Given the description of an element on the screen output the (x, y) to click on. 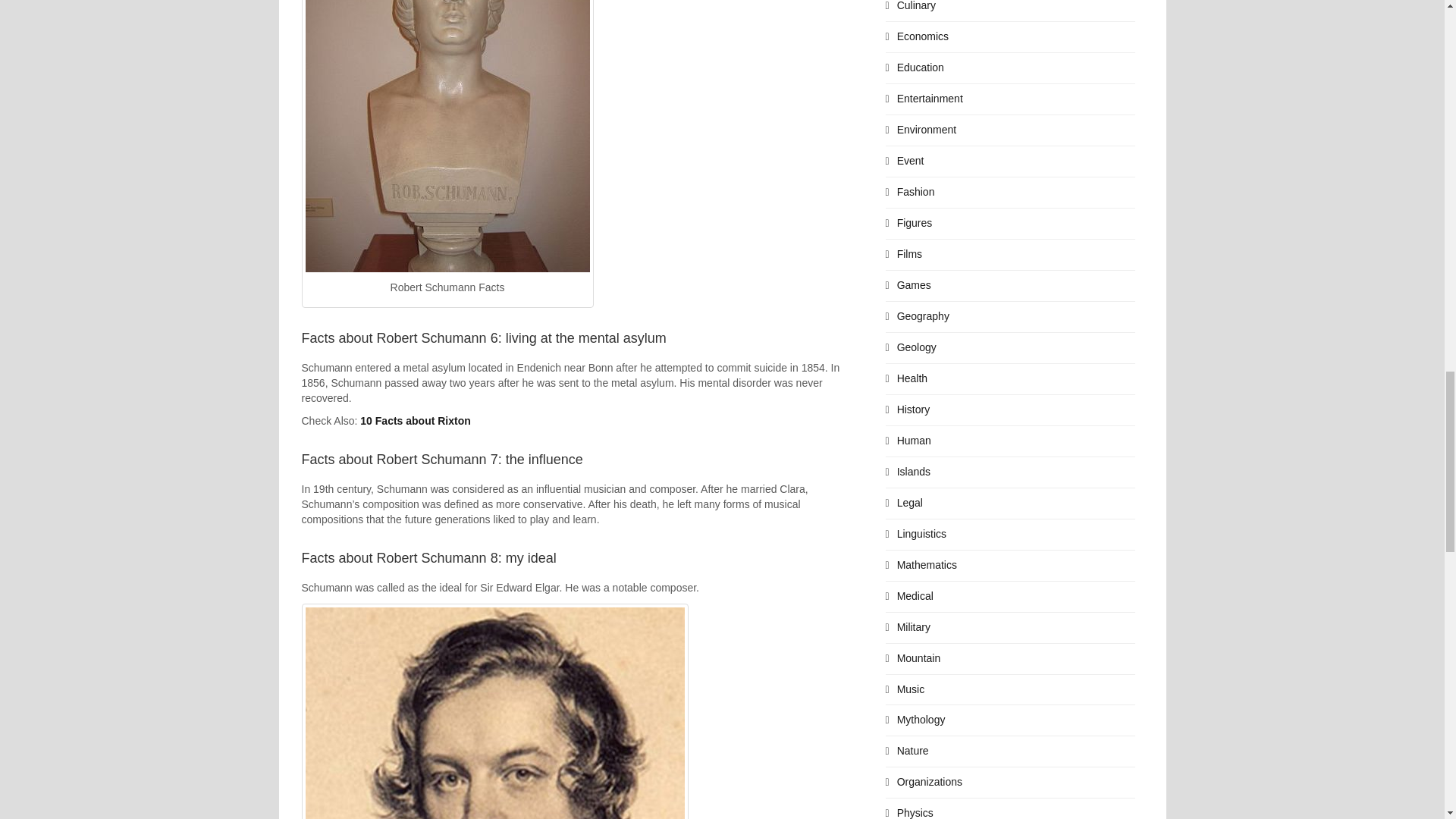
10 Facts about Rixton (414, 420)
